Given the description of an element on the screen output the (x, y) to click on. 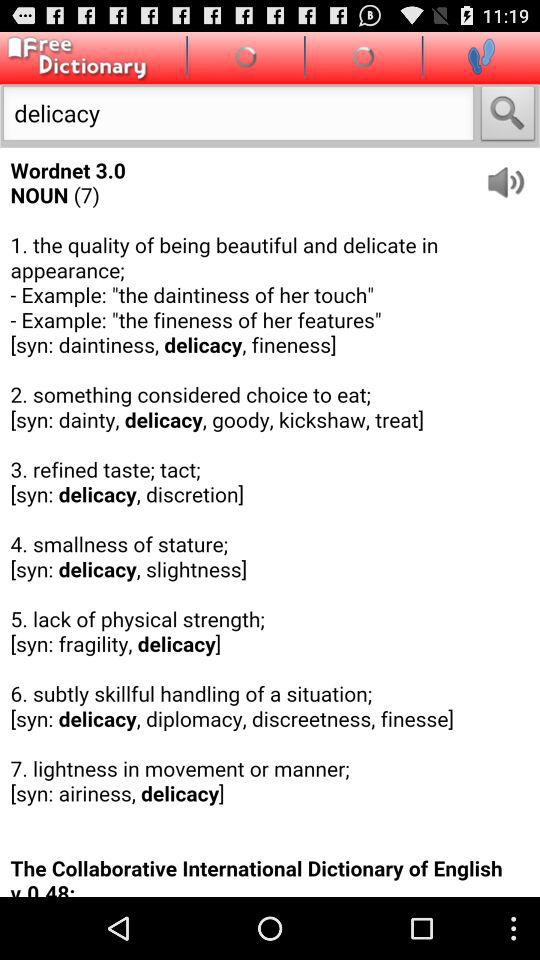
hear word spoken (512, 174)
